Given the description of an element on the screen output the (x, y) to click on. 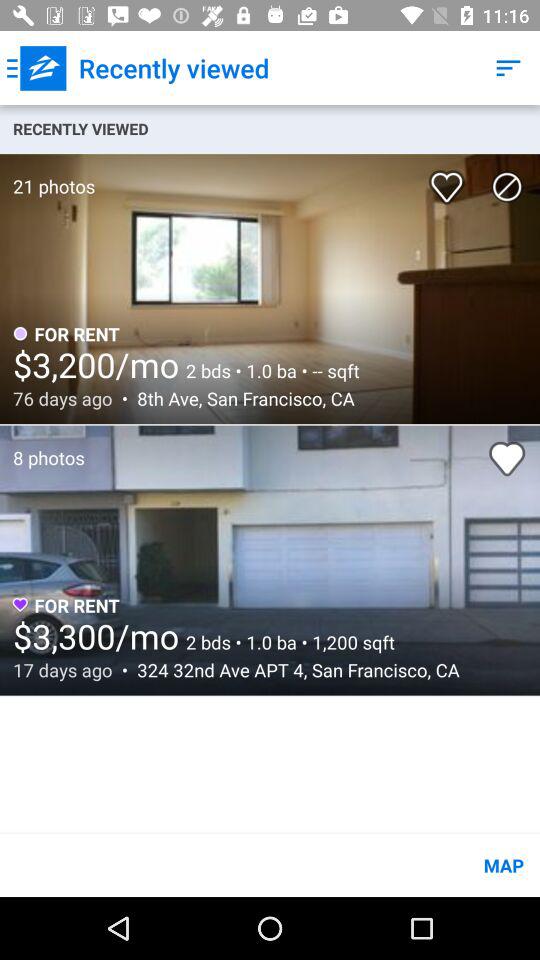
open icon below recently viewed icon (47, 176)
